Given the description of an element on the screen output the (x, y) to click on. 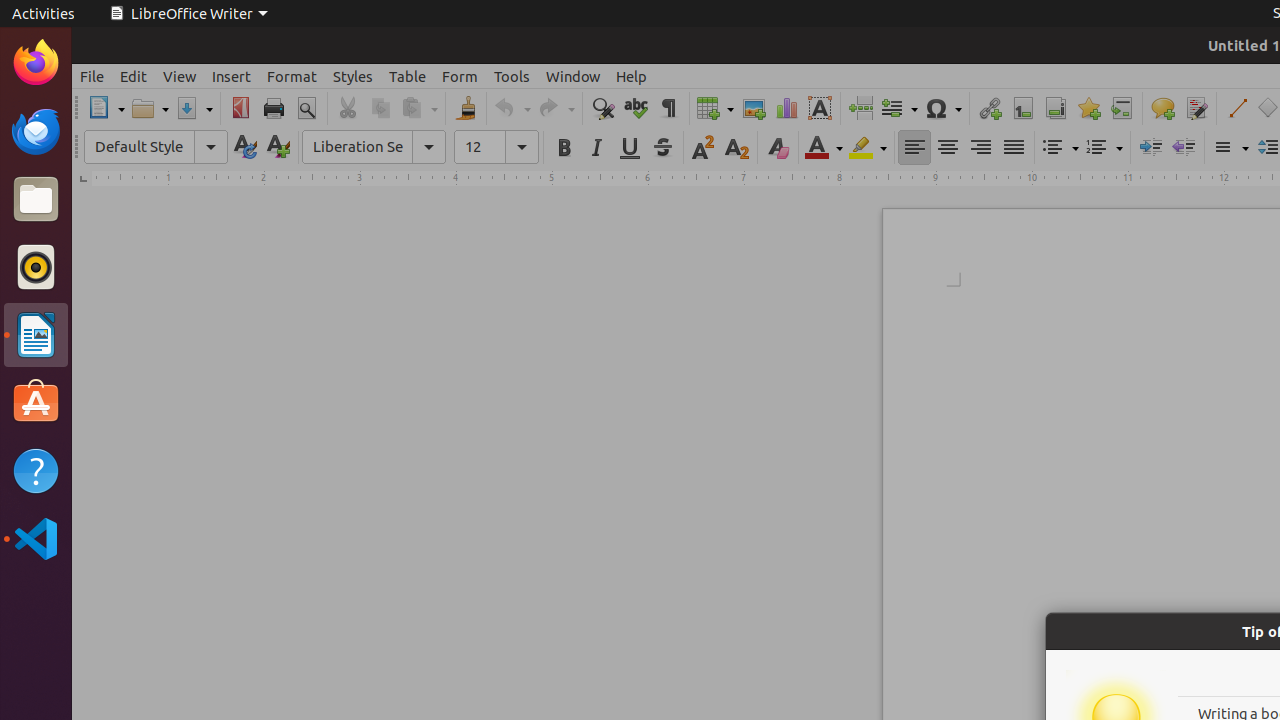
Firefox Web Browser Element type: push-button (36, 63)
Trash Element type: label (133, 191)
luyi1 Element type: label (133, 89)
